Given the description of an element on the screen output the (x, y) to click on. 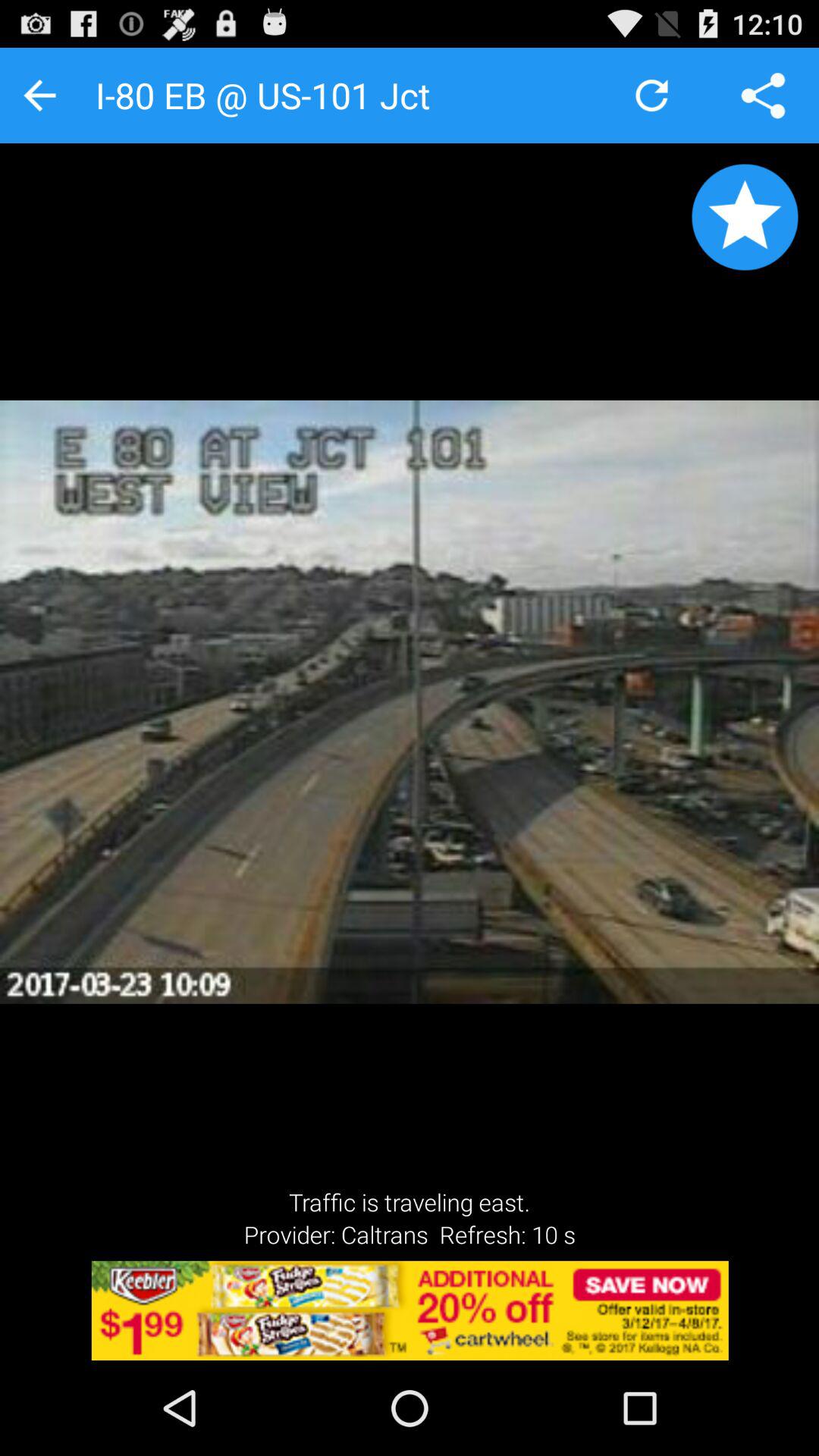
add the option (409, 1310)
